Given the description of an element on the screen output the (x, y) to click on. 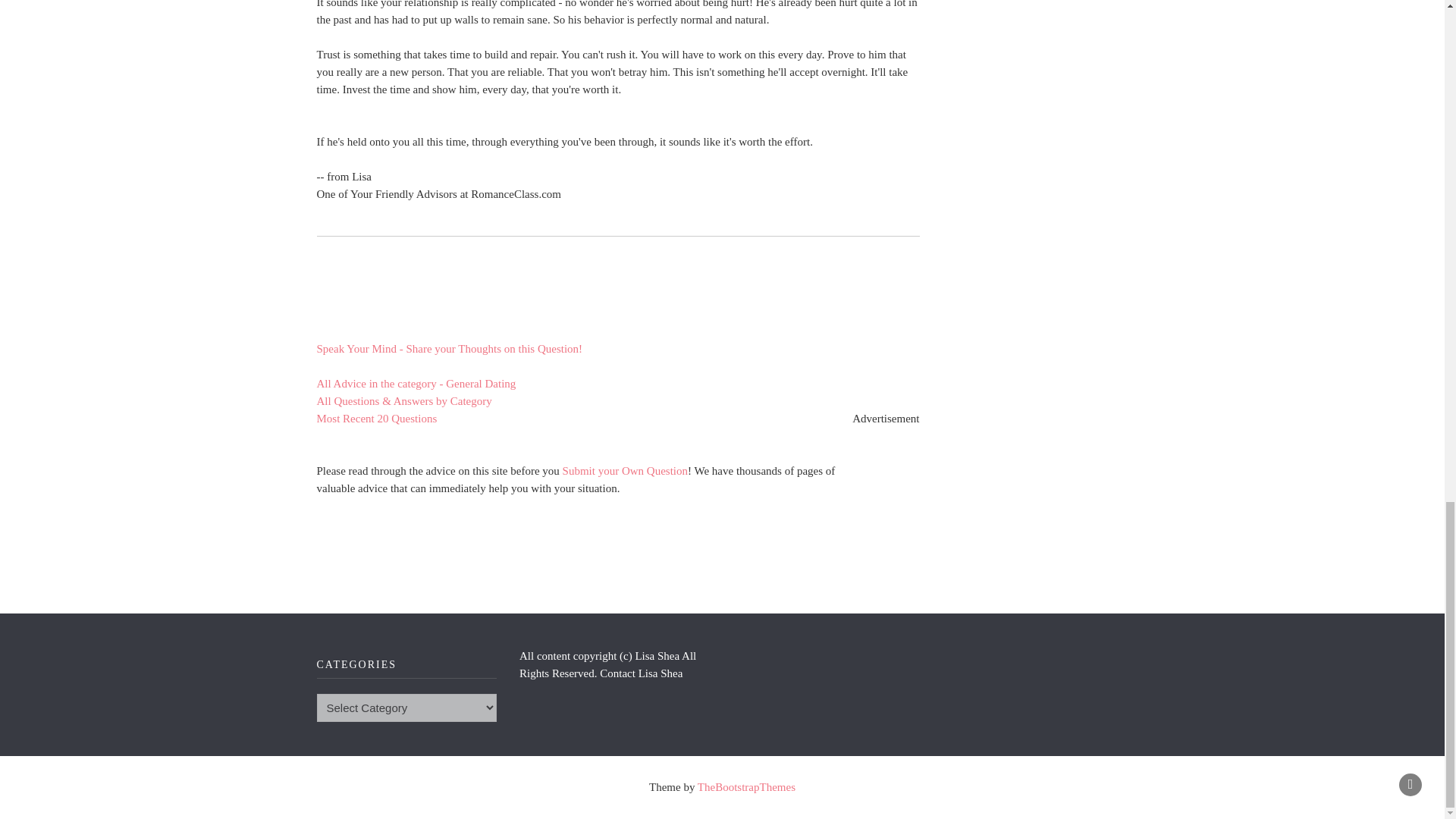
Most Recent 20 Questions (377, 418)
Submit your Own Question (624, 470)
All Advice in the category - General Dating (416, 383)
Speak Your Mind - Share your Thoughts on this Question! (450, 348)
